Given the description of an element on the screen output the (x, y) to click on. 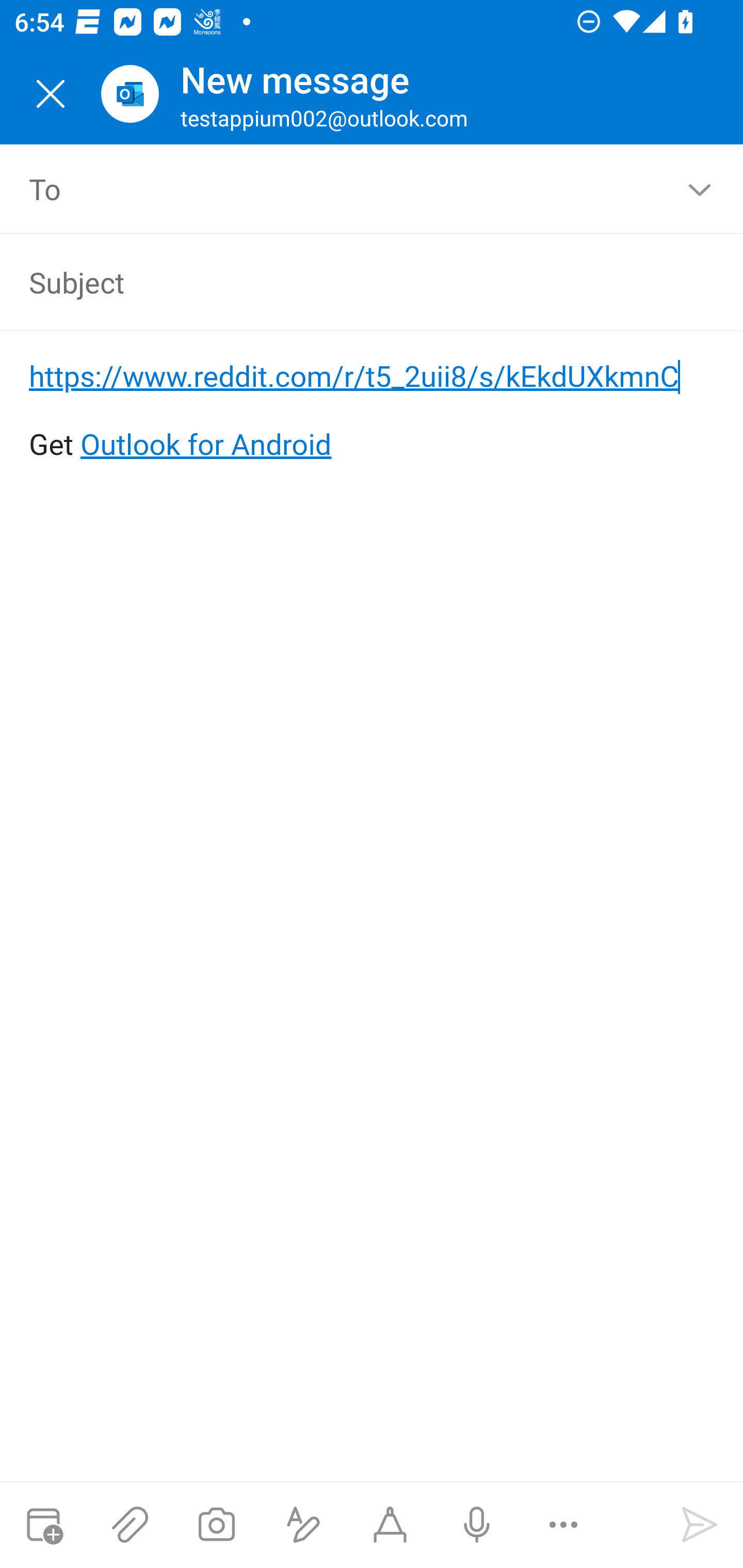
Close (50, 93)
Subject (342, 281)
Attach meeting (43, 1524)
Attach files (129, 1524)
Take a photo (216, 1524)
Show formatting options (303, 1524)
Start Ink compose (389, 1524)
Dictation (476, 1524)
More options (563, 1524)
Send (699, 1524)
